Given the description of an element on the screen output the (x, y) to click on. 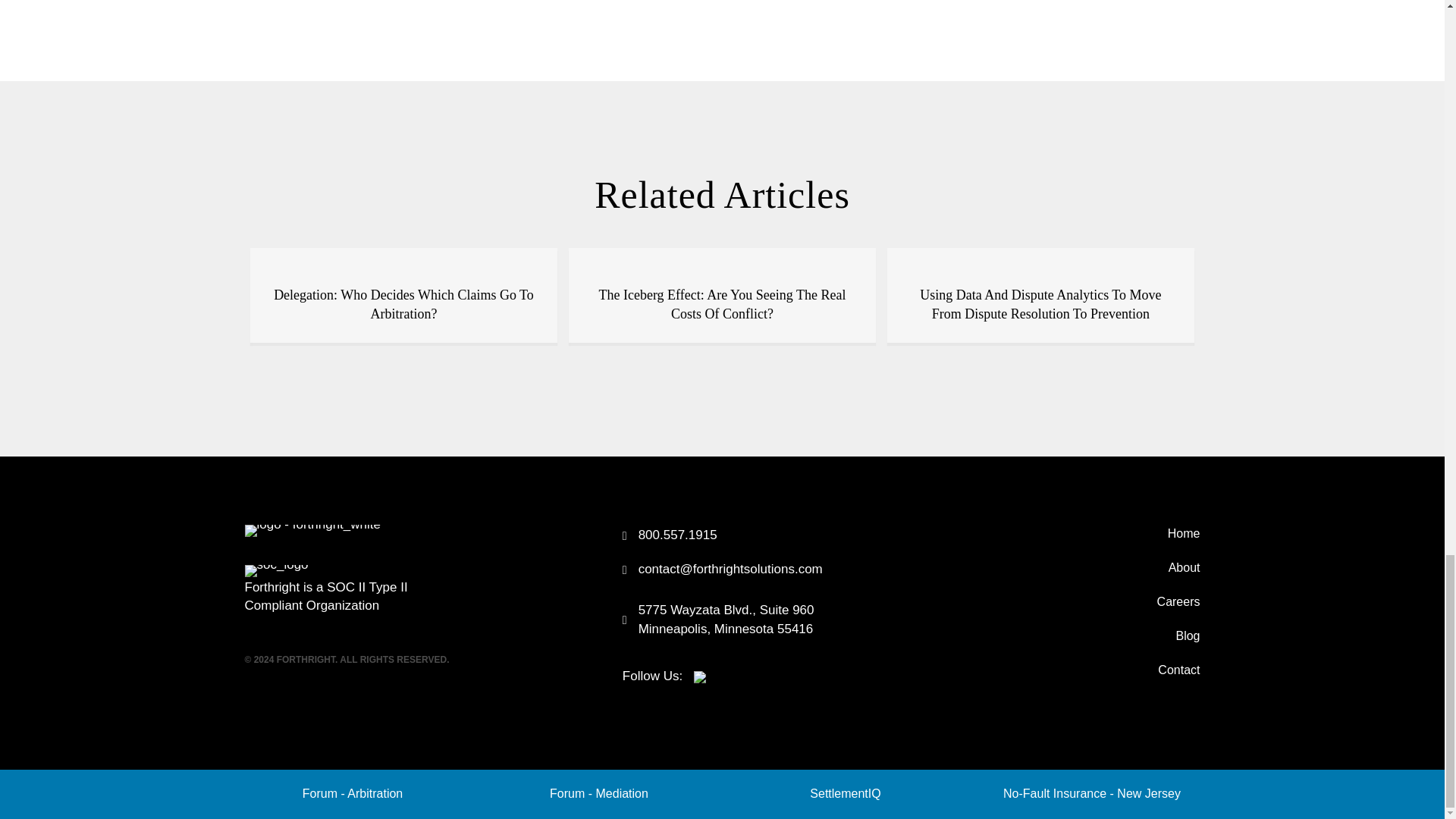
No-Fault Insurance - New Jersey (1091, 793)
Forum - Mediation (598, 793)
About (1050, 567)
Follow Us: (664, 676)
Forum - Arbitration (352, 793)
Home (1050, 533)
